Given the description of an element on the screen output the (x, y) to click on. 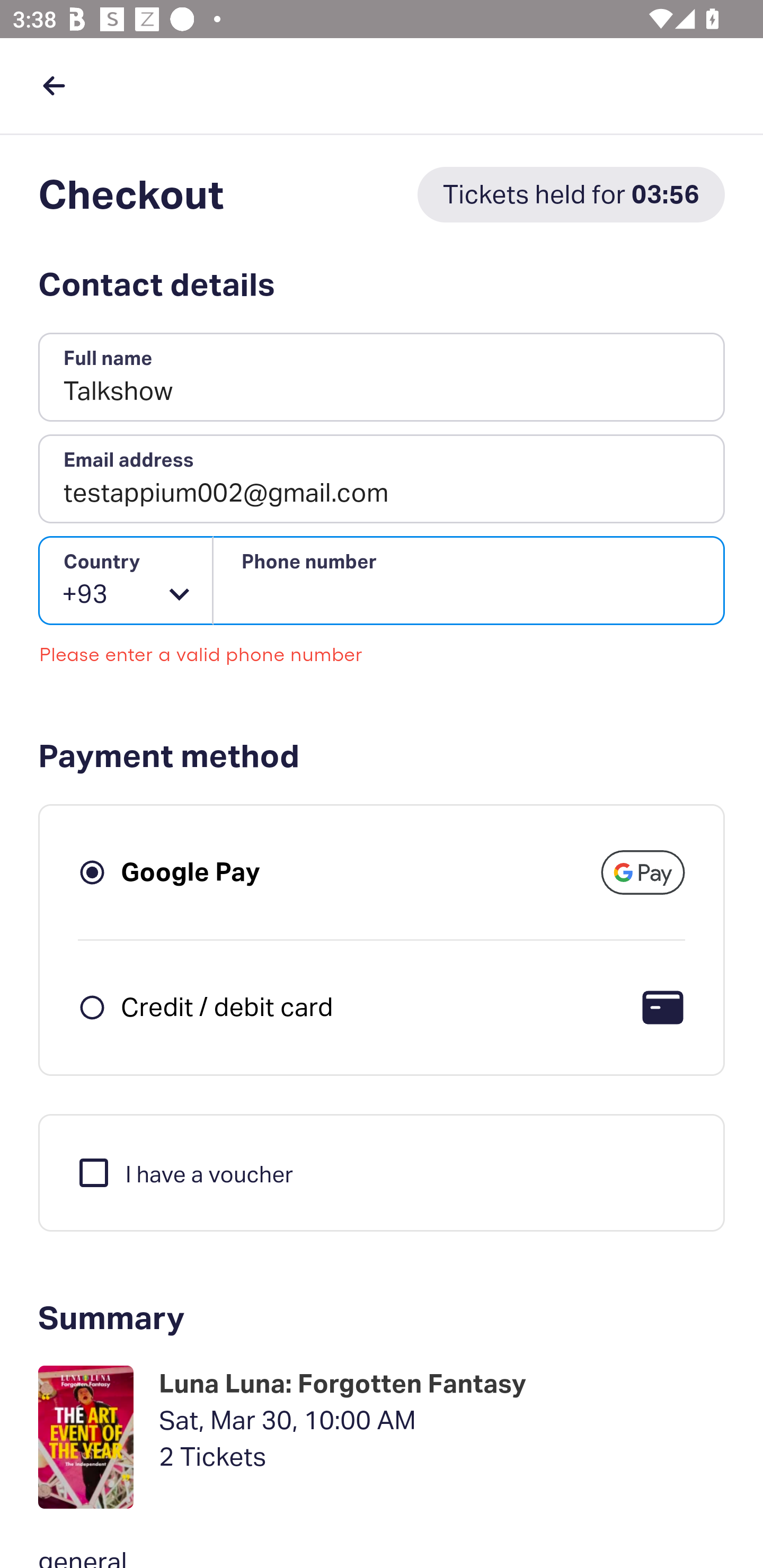
back button (53, 85)
Talkshow (381, 377)
testappium002@gmail.com (381, 478)
  +93 (126, 580)
Google Pay (190, 871)
Credit / debit card (227, 1006)
I have a voucher (183, 1171)
